Given the description of an element on the screen output the (x, y) to click on. 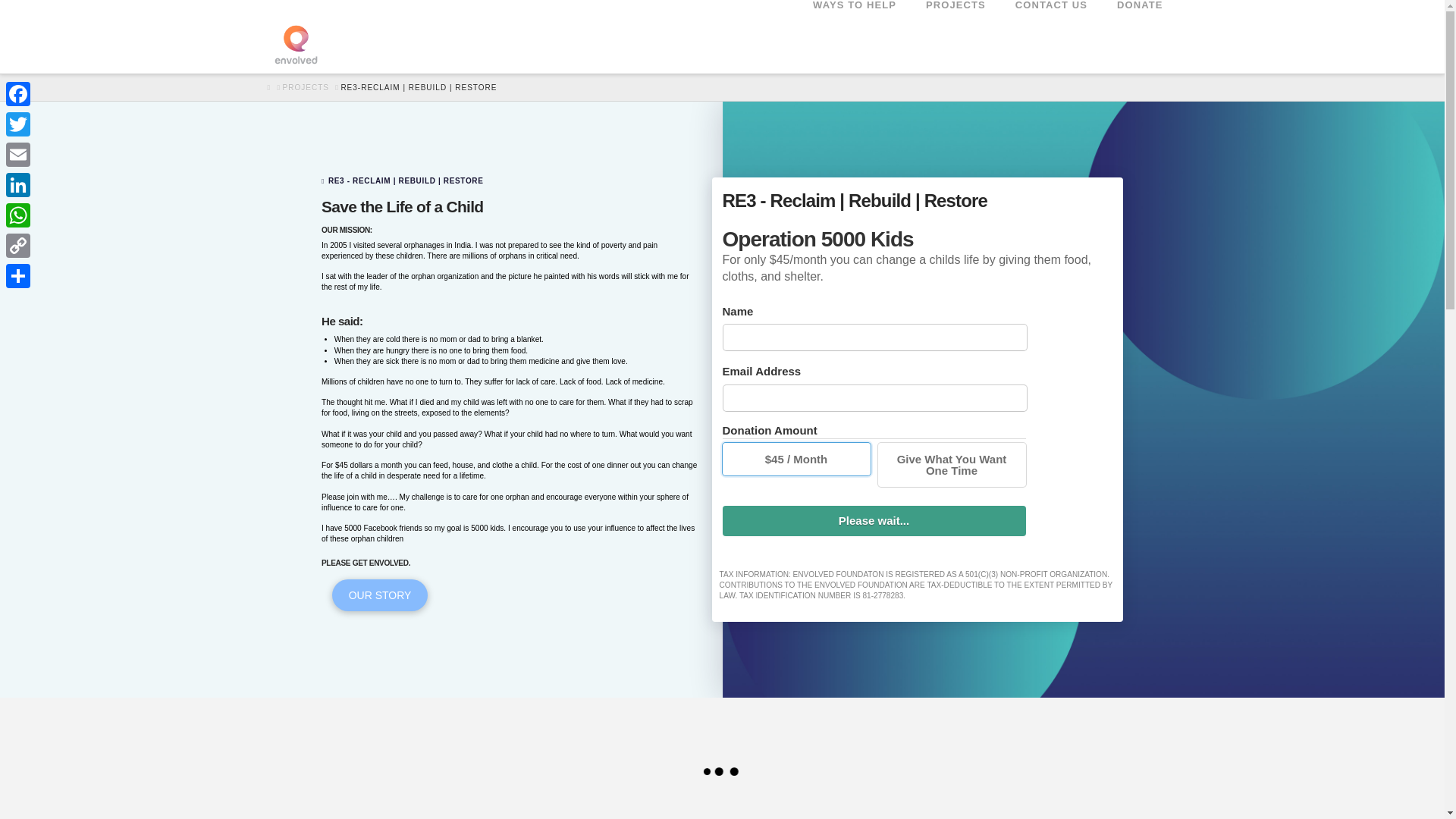
Facebook (17, 93)
mp7 (721, 807)
mp6 (1025, 807)
WAYS TO HELP (854, 33)
You Are Here (418, 86)
PROJECTS (955, 33)
Twitter (17, 123)
Email (17, 154)
LinkedIn (17, 184)
mp8 (418, 807)
